Given the description of an element on the screen output the (x, y) to click on. 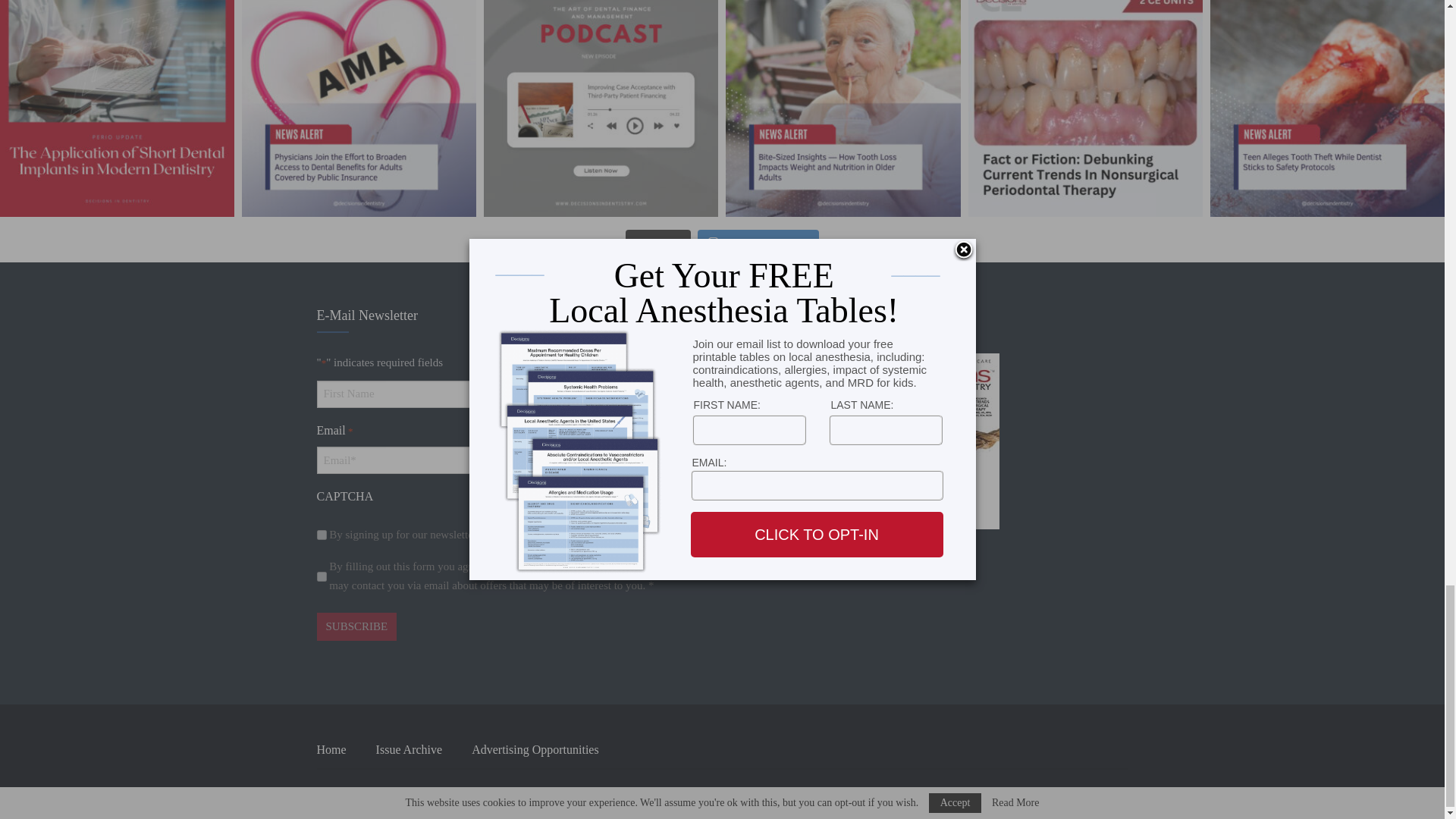
Subscribe (357, 626)
